Given the description of an element on the screen output the (x, y) to click on. 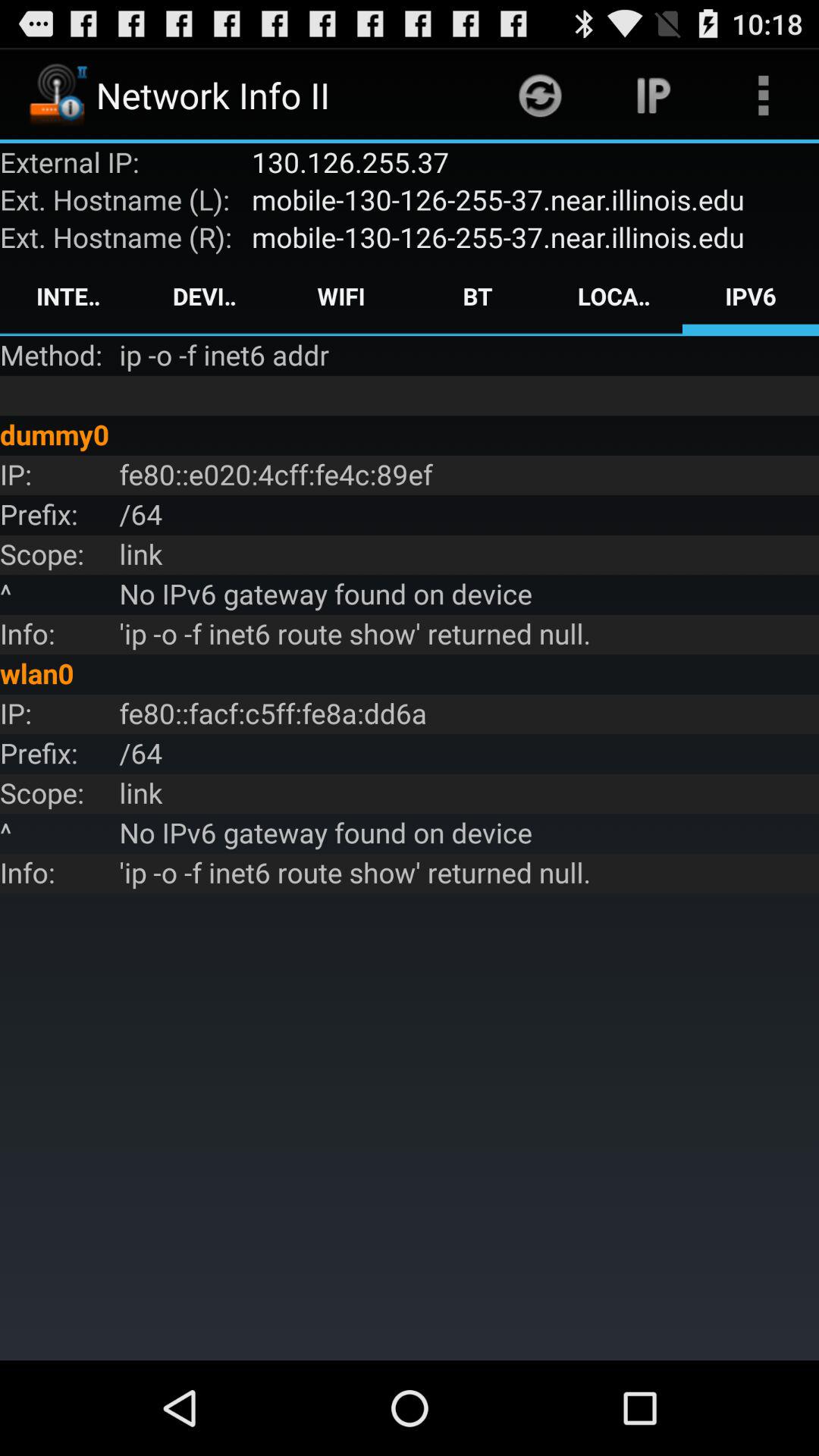
select icon next to the bt icon (341, 295)
